Given the description of an element on the screen output the (x, y) to click on. 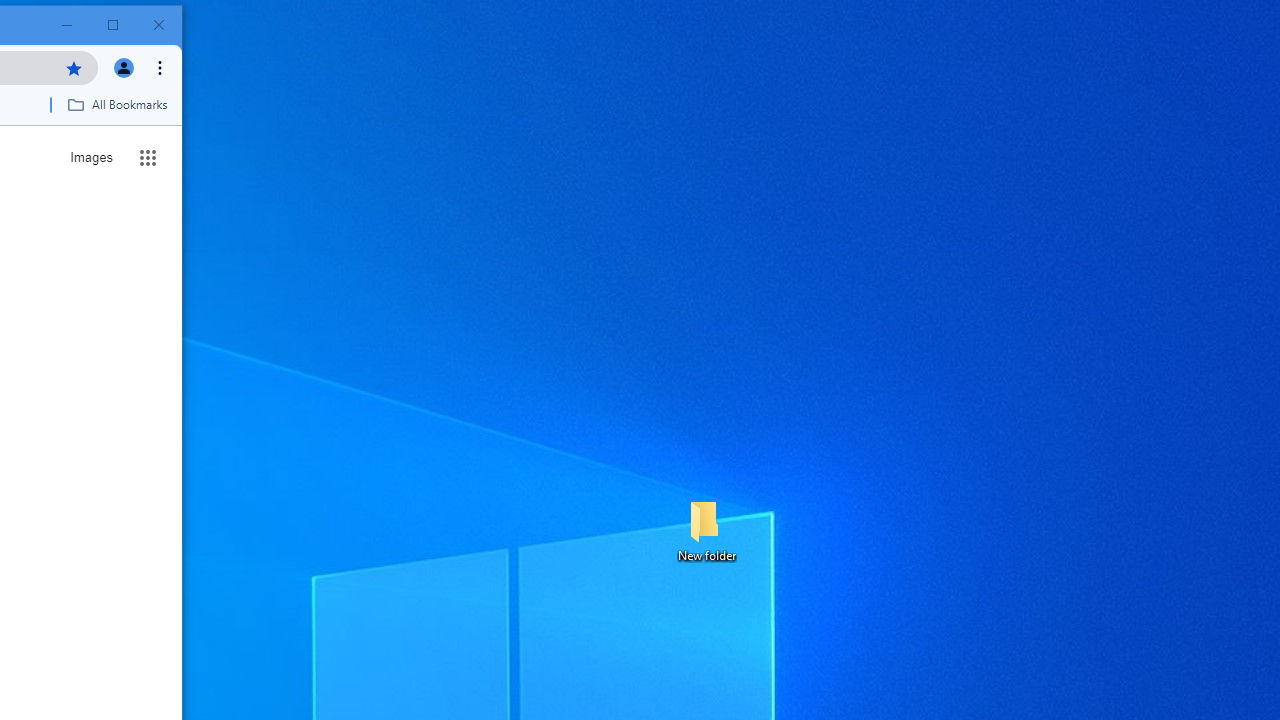
New folder (706, 530)
